Given the description of an element on the screen output the (x, y) to click on. 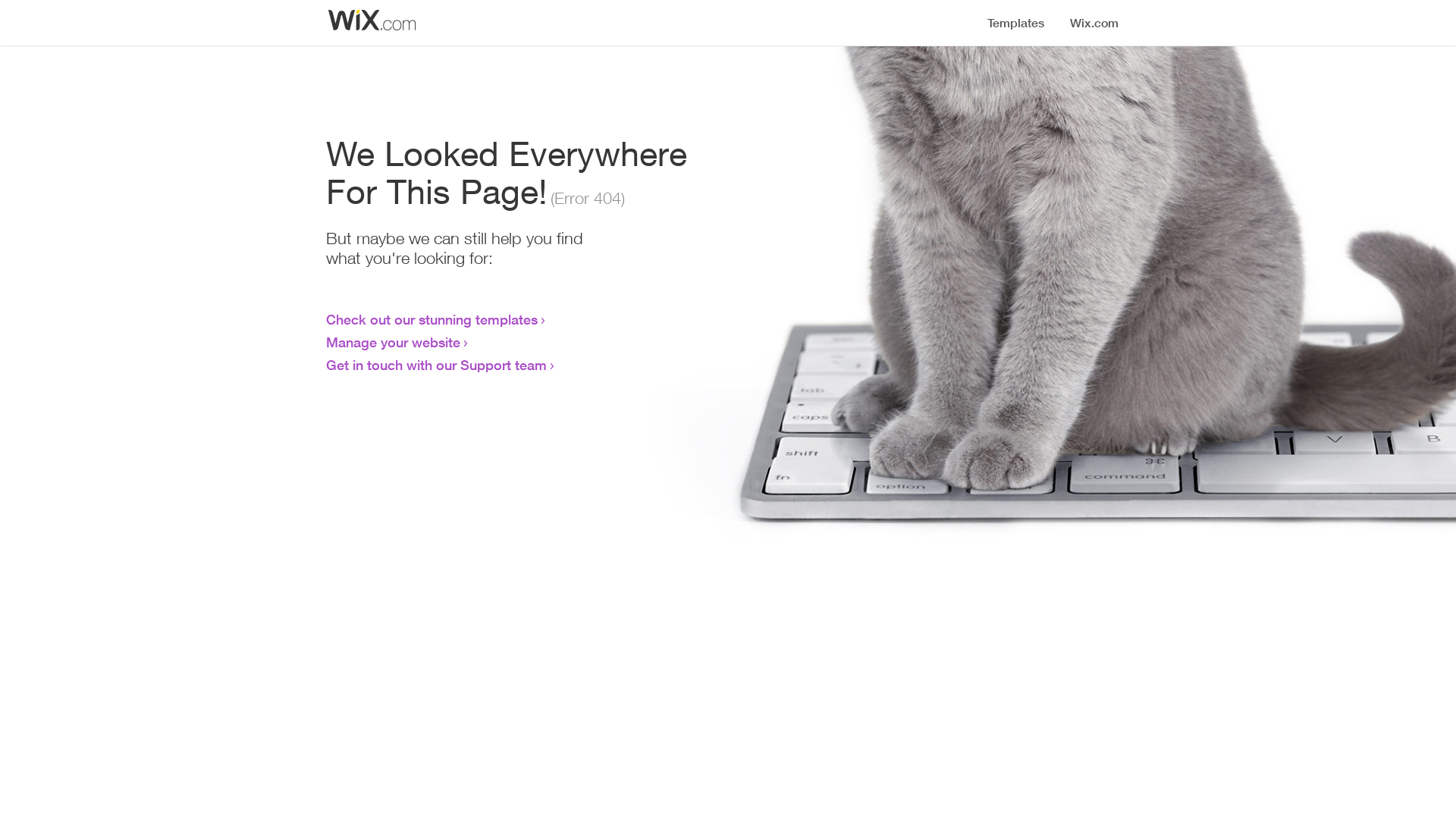
Check out our stunning templates Element type: text (431, 318)
Manage your website Element type: text (393, 341)
Get in touch with our Support team Element type: text (436, 364)
